Given the description of an element on the screen output the (x, y) to click on. 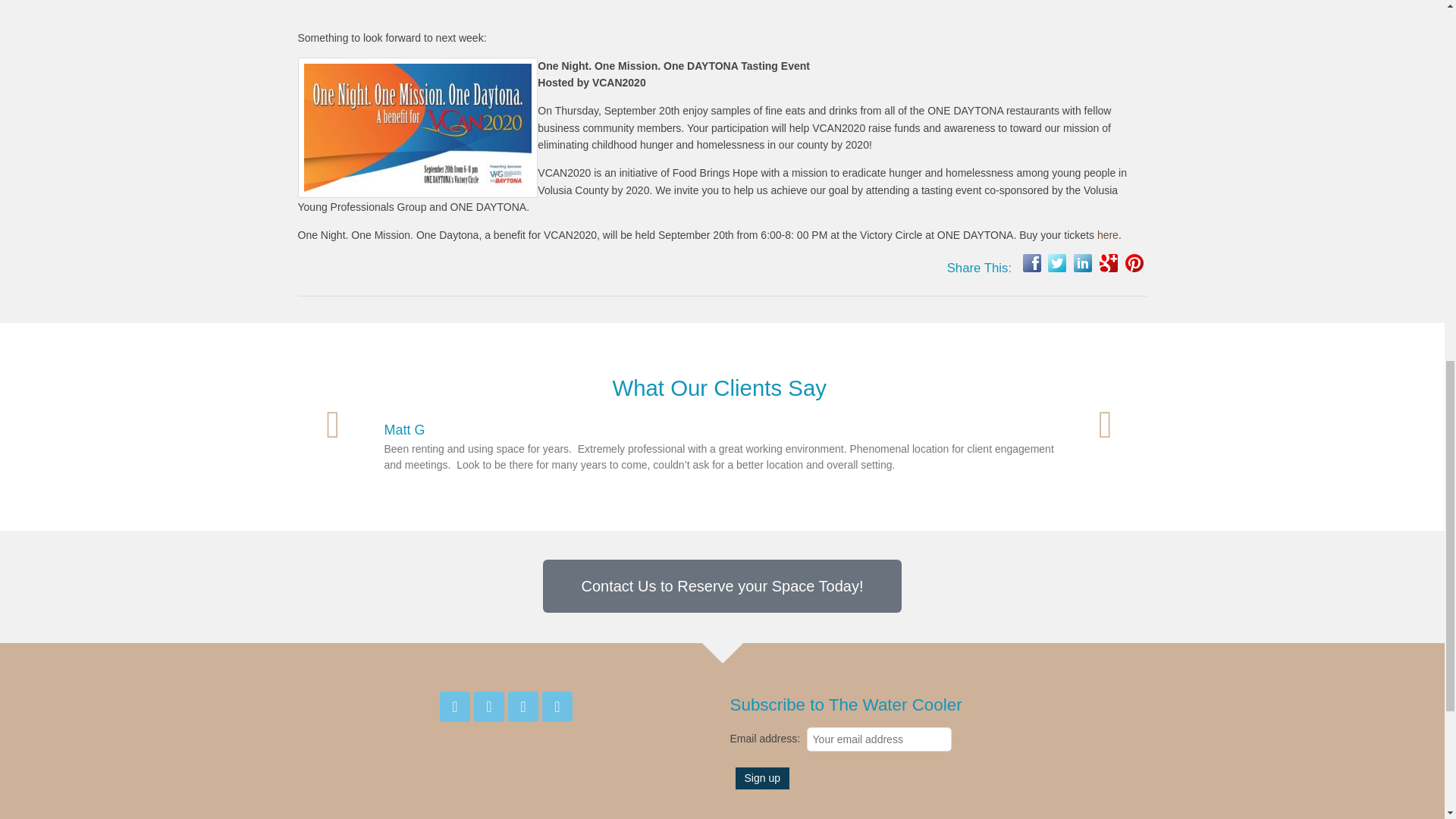
Sign up (762, 778)
Matt G (404, 429)
Share this post on Facebook (1032, 262)
Contact Us to Reserve your Space Today! (722, 585)
Share this with your Twitter followers (1056, 262)
here (1107, 234)
Sign up (762, 778)
